Given the description of an element on the screen output the (x, y) to click on. 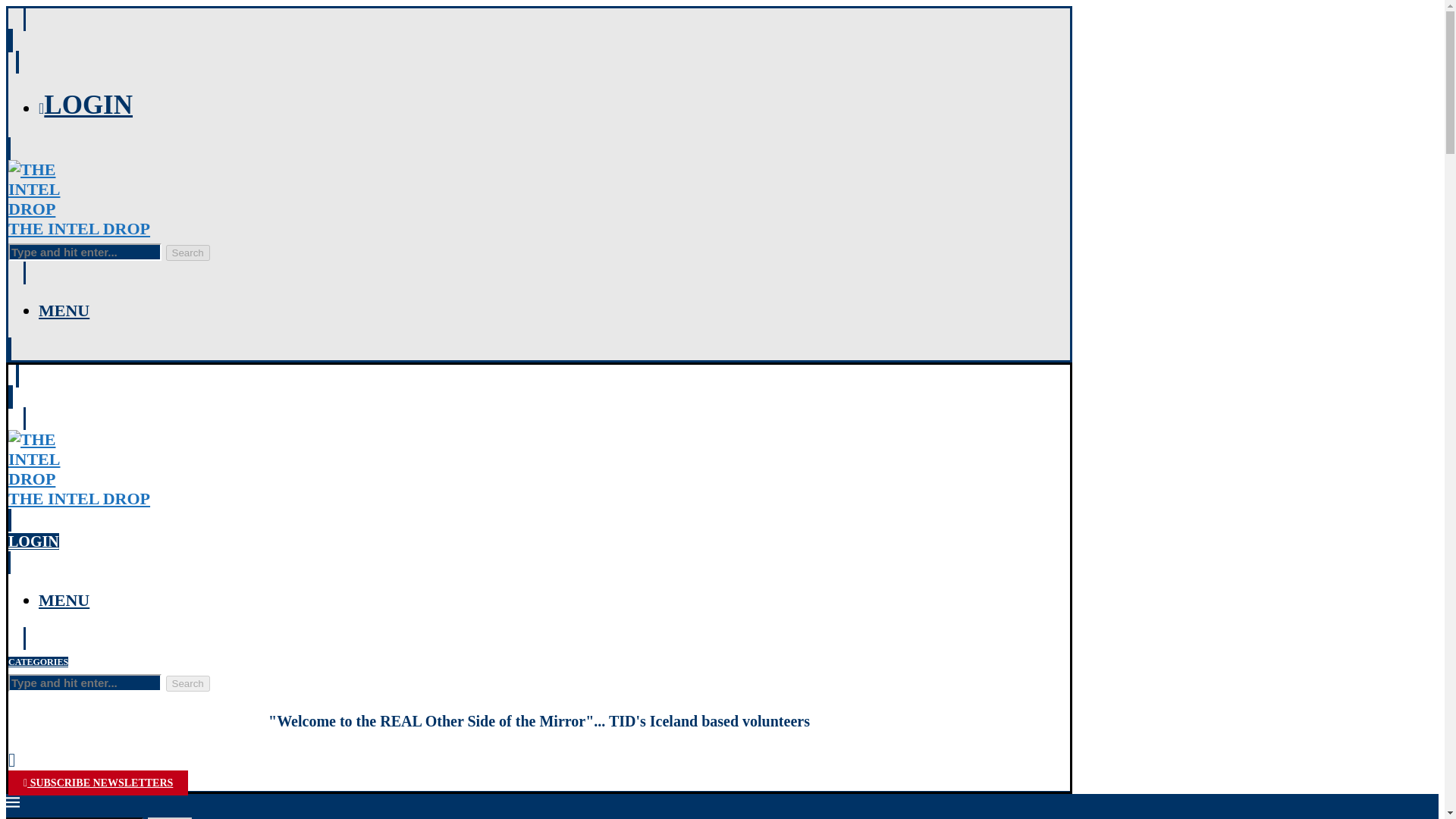
LOGIN (33, 541)
THE INTEL DROP (539, 229)
THE INTEL DROP (539, 498)
MENU (63, 310)
Search (168, 818)
LOGIN (85, 104)
CATEGORIES (38, 661)
Search (97, 782)
MENU (187, 683)
Search (63, 599)
